Given the description of an element on the screen output the (x, y) to click on. 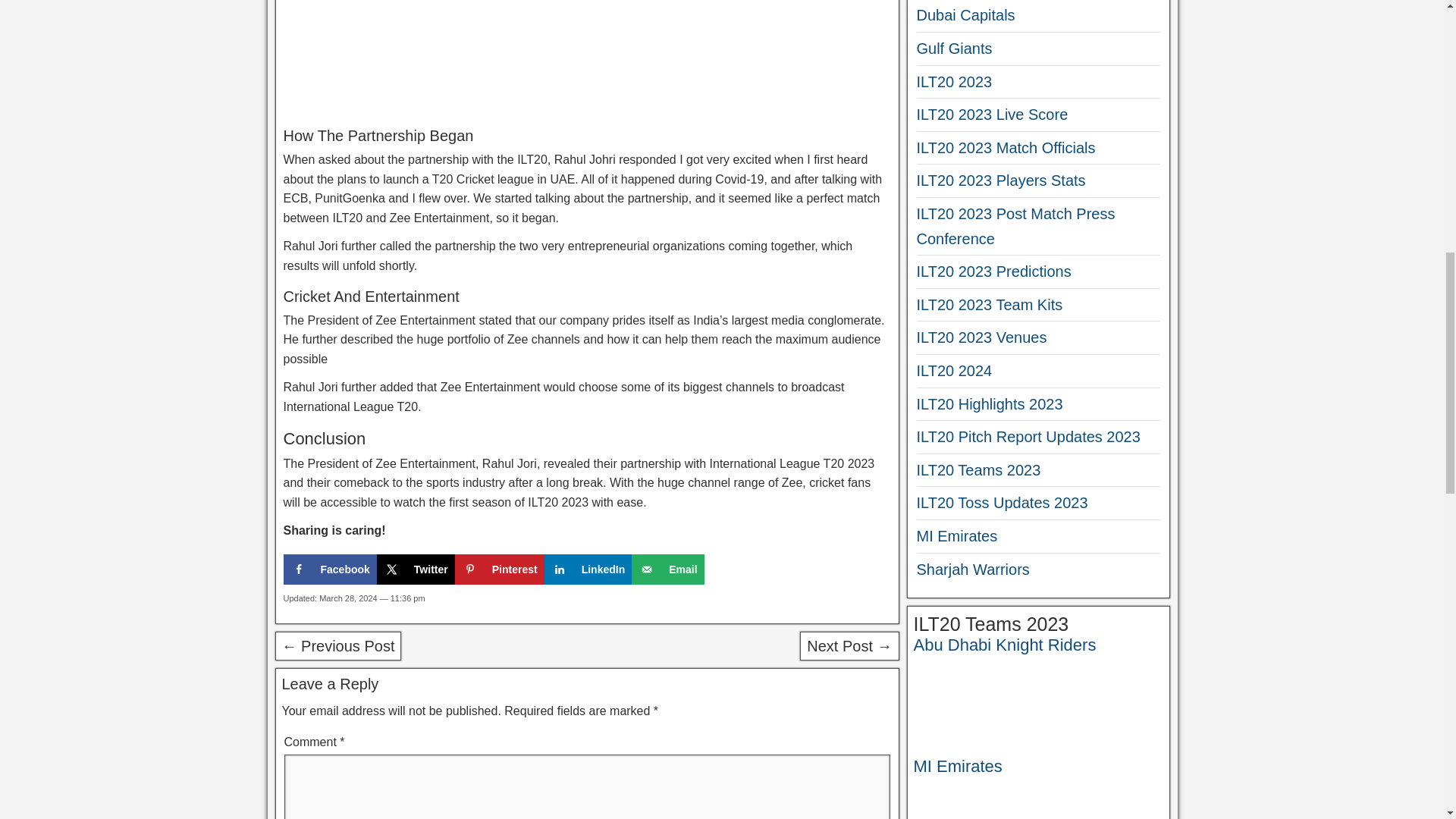
Share on LinkedIn (587, 569)
Facebook (330, 569)
LinkedIn (587, 569)
Email (667, 569)
Share on X (415, 569)
Pinterest (499, 569)
Share on Facebook (330, 569)
Save to Pinterest (499, 569)
Twitter (415, 569)
